Given the description of an element on the screen output the (x, y) to click on. 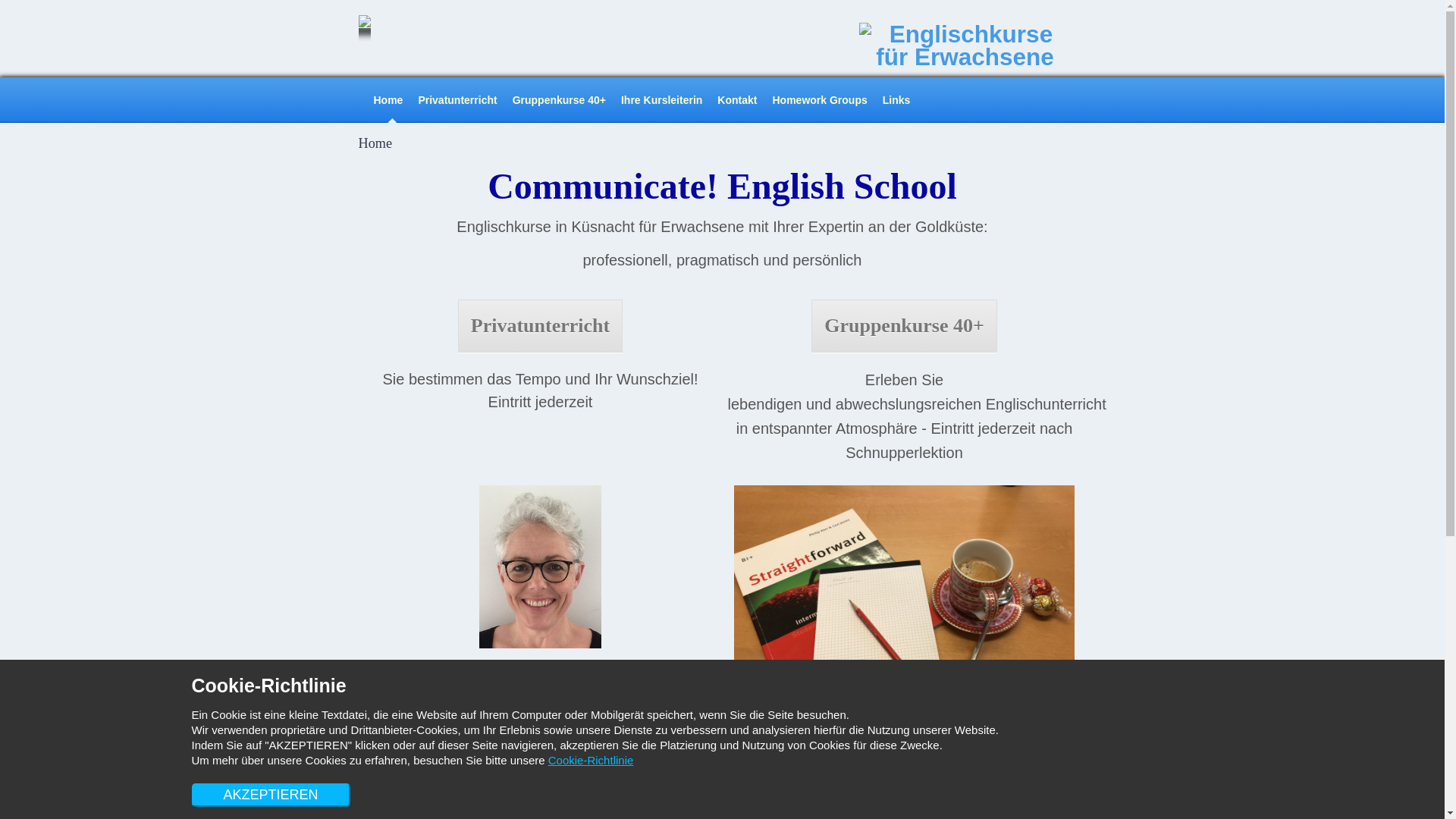
Privatunterricht Element type: text (456, 100)
Cookie-Richtlinie Element type: text (590, 759)
Ihre Kursleiterin Element type: text (661, 100)
AKZEPTIEREN Element type: text (270, 794)
Home Element type: text (387, 100)
Homework Groups Element type: text (818, 100)
Links Element type: text (896, 100)
Gruppenkurse 40+ Element type: text (558, 100)
Kontakt Element type: text (736, 100)
Privatunterricht Element type: text (540, 325)
Gruppenkurse 40+ Element type: text (904, 325)
